Given the description of an element on the screen output the (x, y) to click on. 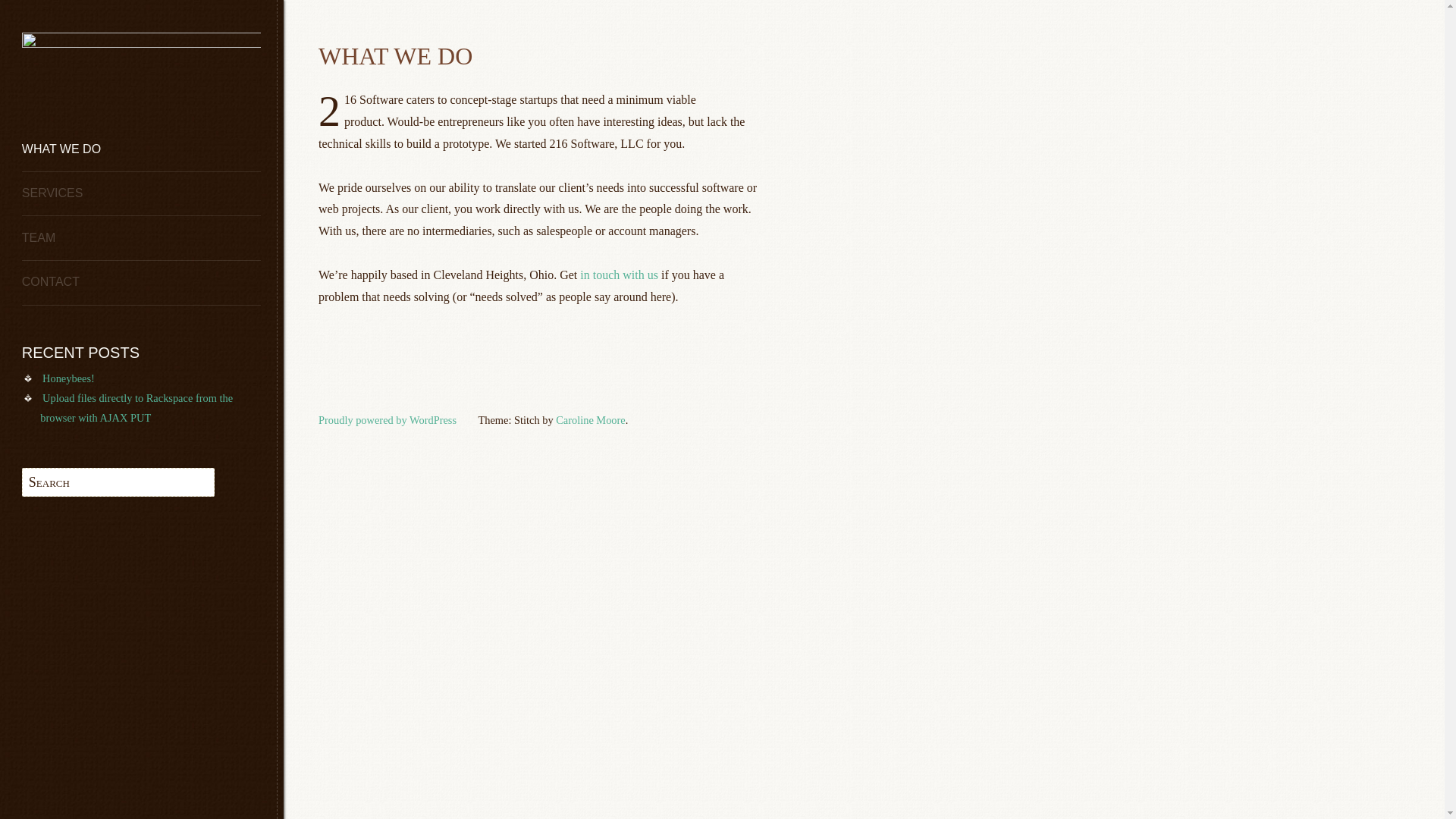
Caroline Moore Element type: text (590, 420)
WHAT WE DO Element type: text (140, 149)
216 SOFTWARE, LLC Element type: text (95, 203)
TEAM Element type: text (140, 238)
CONTACT Element type: text (140, 282)
Proudly powered by WordPress Element type: text (387, 420)
216 Software, LLC Element type: hover (140, 43)
SERVICES Element type: text (140, 194)
in touch with us Element type: text (619, 274)
Search Element type: text (65, 13)
Honeybees! Element type: text (68, 378)
SKIP TO CONTENT Element type: text (76, 149)
